Given the description of an element on the screen output the (x, y) to click on. 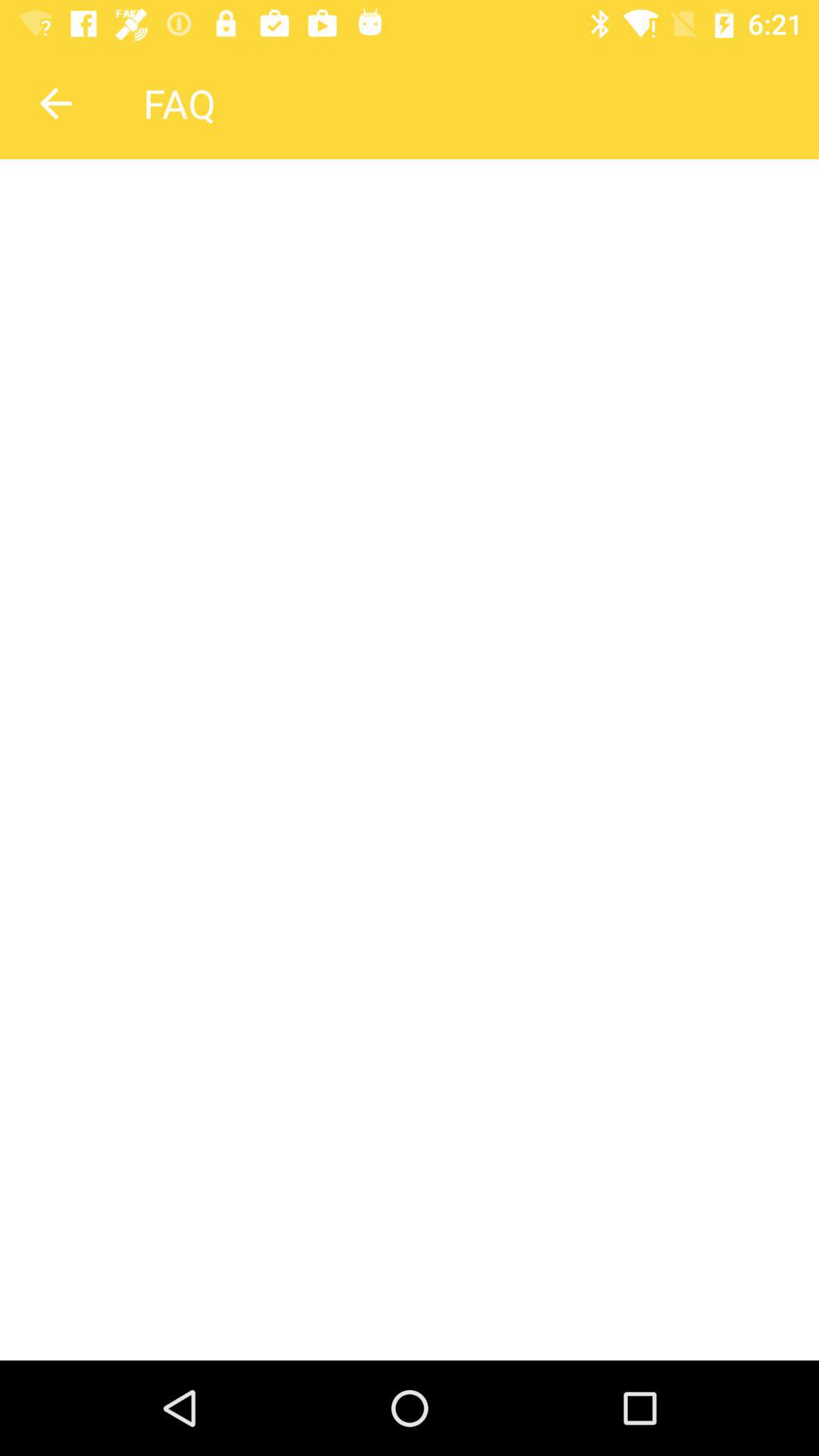
turn off the item next to faq icon (55, 103)
